Given the description of an element on the screen output the (x, y) to click on. 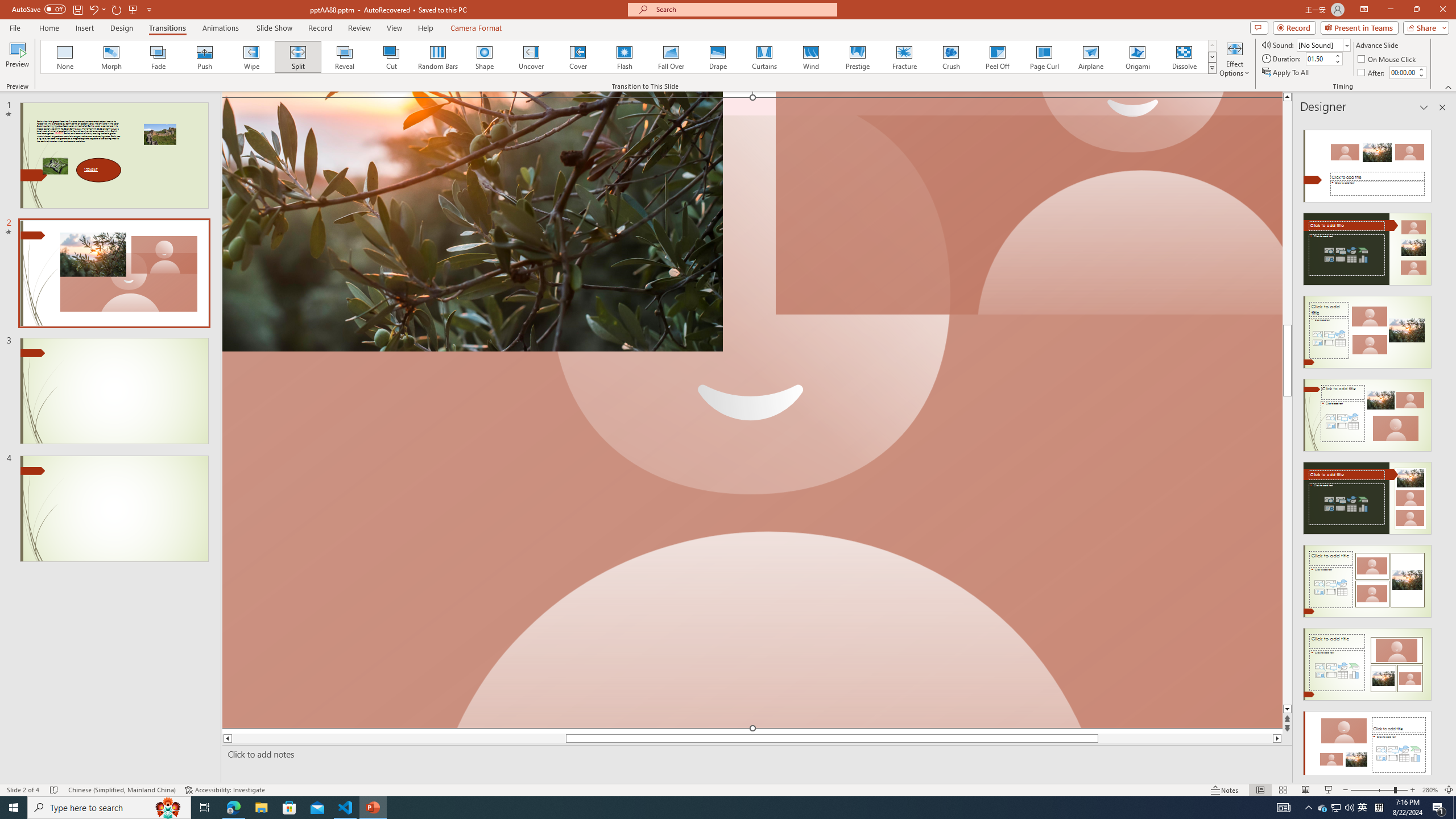
Dissolve (1183, 56)
Line down (1287, 709)
Fade (158, 56)
Duration (1319, 58)
Class: NetUIScrollBar (1441, 447)
Peel Off (997, 56)
Split (298, 56)
